Given the description of an element on the screen output the (x, y) to click on. 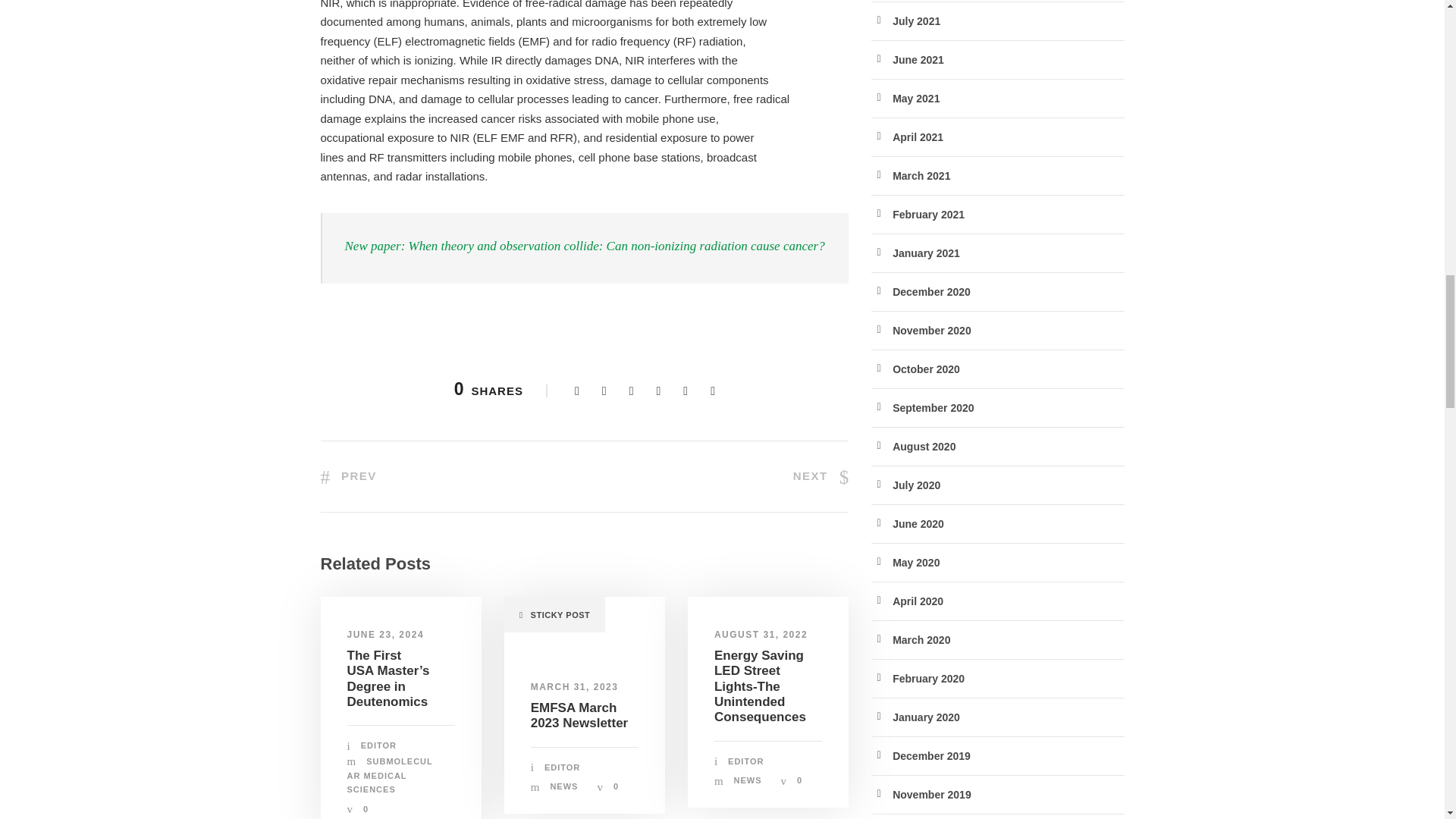
Embedded WordPress Post (547, 438)
Posts by Editor (378, 745)
Posts by Editor (745, 760)
Posts by Editor (561, 767)
